Given the description of an element on the screen output the (x, y) to click on. 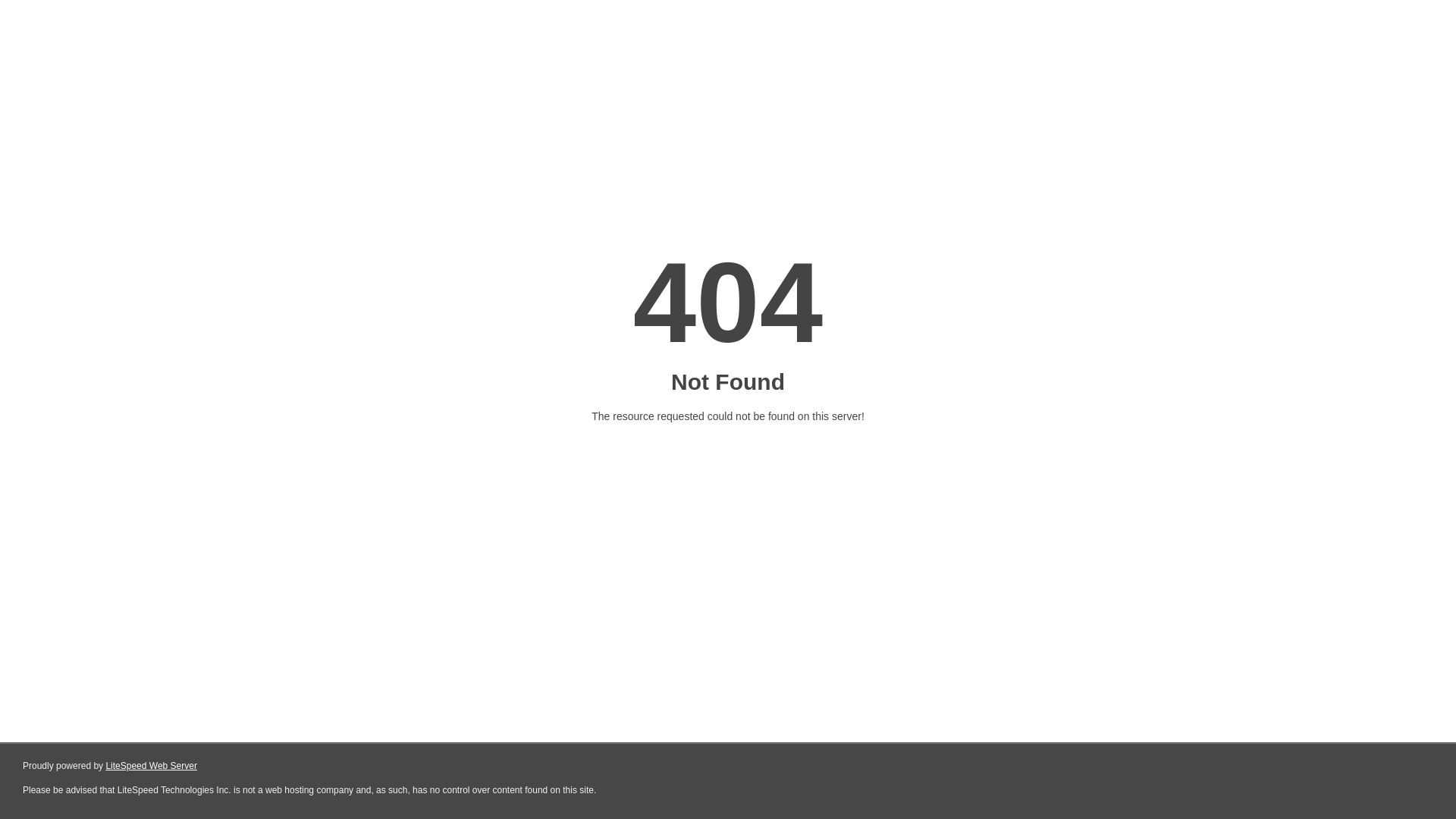
LiteSpeed Web Server Element type: text (151, 765)
